Given the description of an element on the screen output the (x, y) to click on. 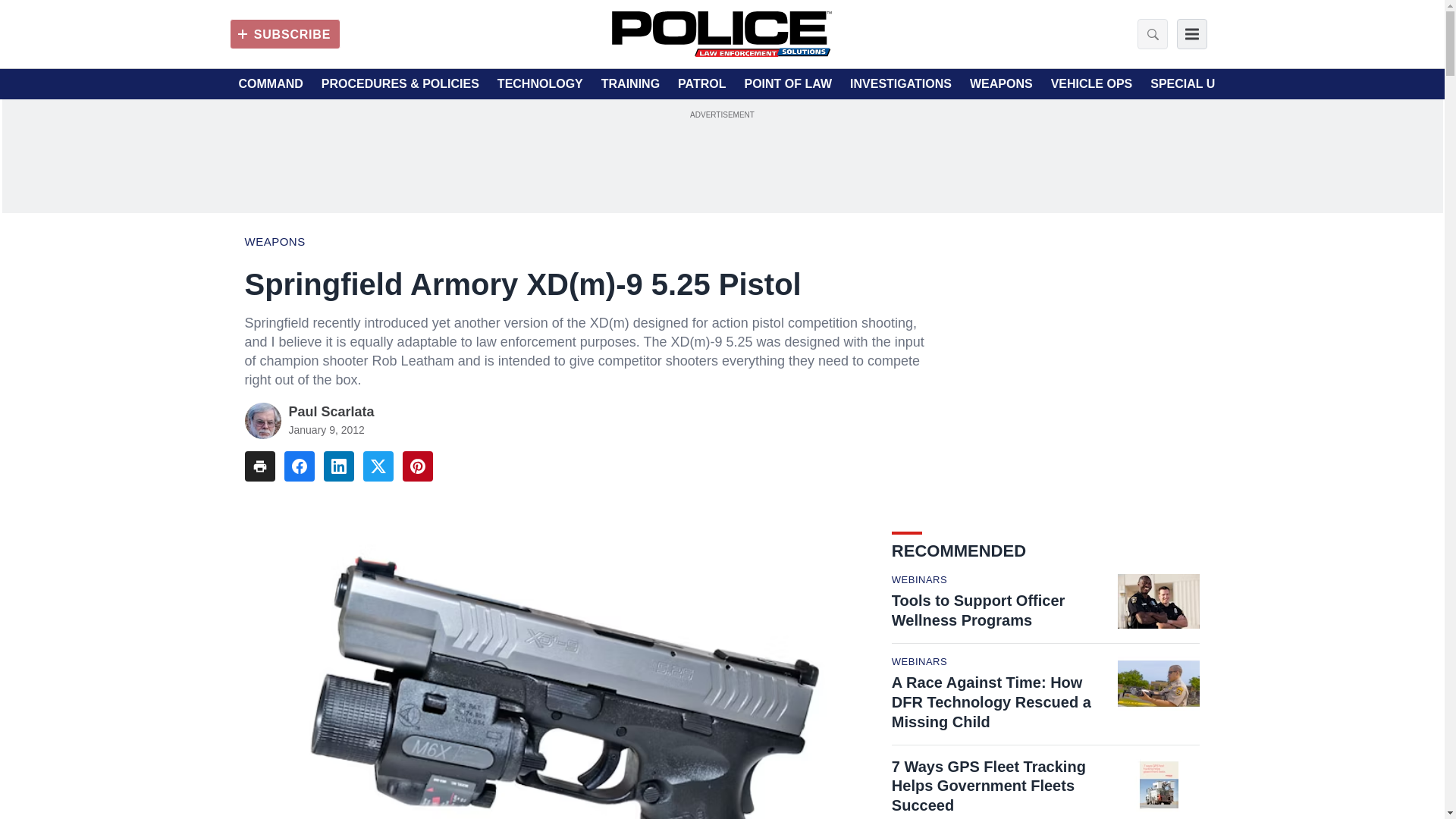
Share To facebook (298, 466)
PATROL (701, 84)
TRAINING (630, 84)
Share To pinterest (416, 466)
DIRECTORY (1296, 84)
TECHNOLOGY (540, 84)
Weapons (274, 241)
Share To twitter (377, 466)
COMMAND (270, 84)
Share To linkedin (338, 466)
